Given the description of an element on the screen output the (x, y) to click on. 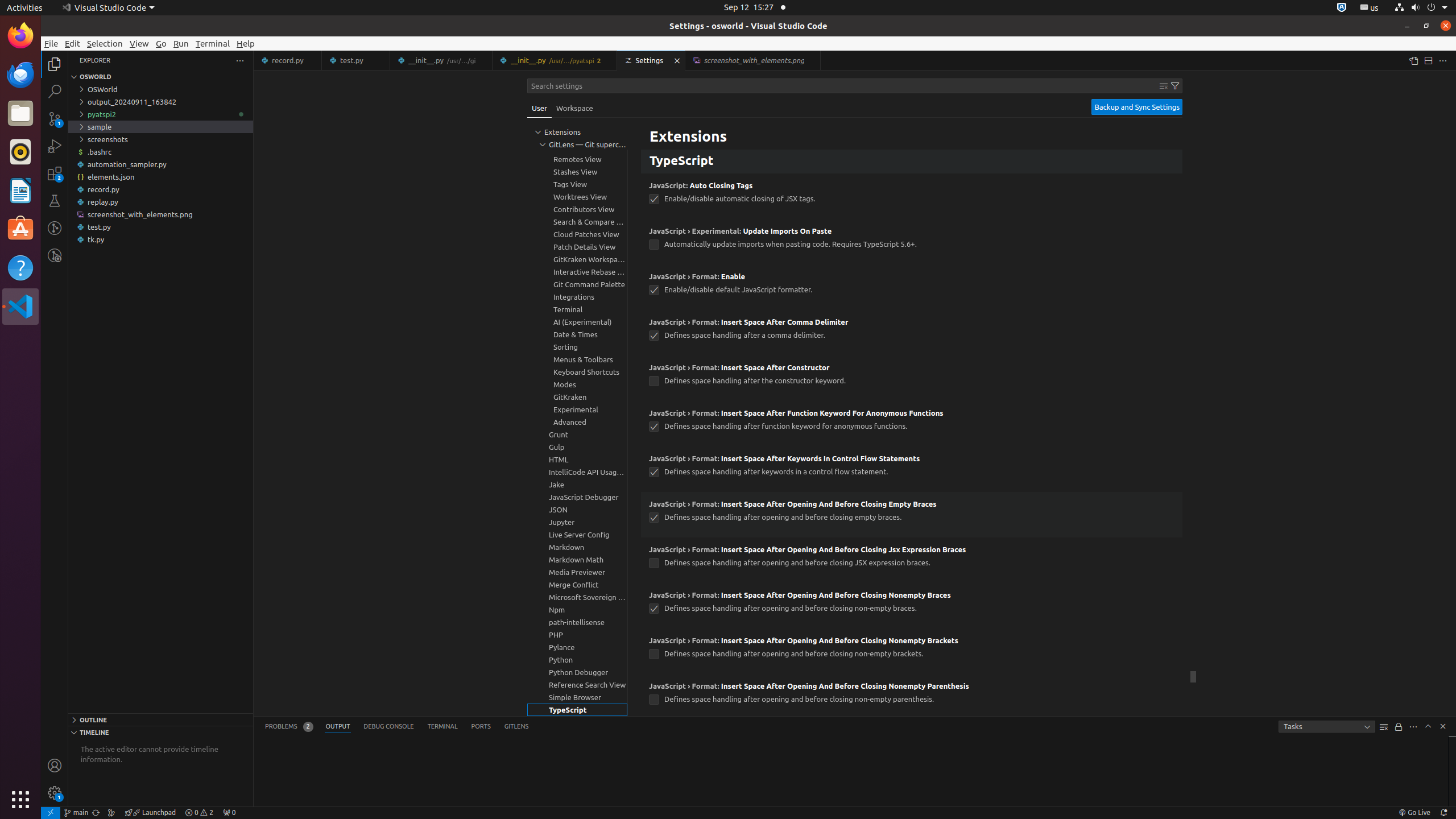
Search (Ctrl+Shift+F) Element type: page-tab (54, 91)
__init__.py Element type: page-tab (554, 60)
javascript.autoClosingTags Element type: check-box (653, 198)
Tasks Element type: menu-item (1326, 726)
automation_sampler.py Element type: tree-item (160, 164)
